Given the description of an element on the screen output the (x, y) to click on. 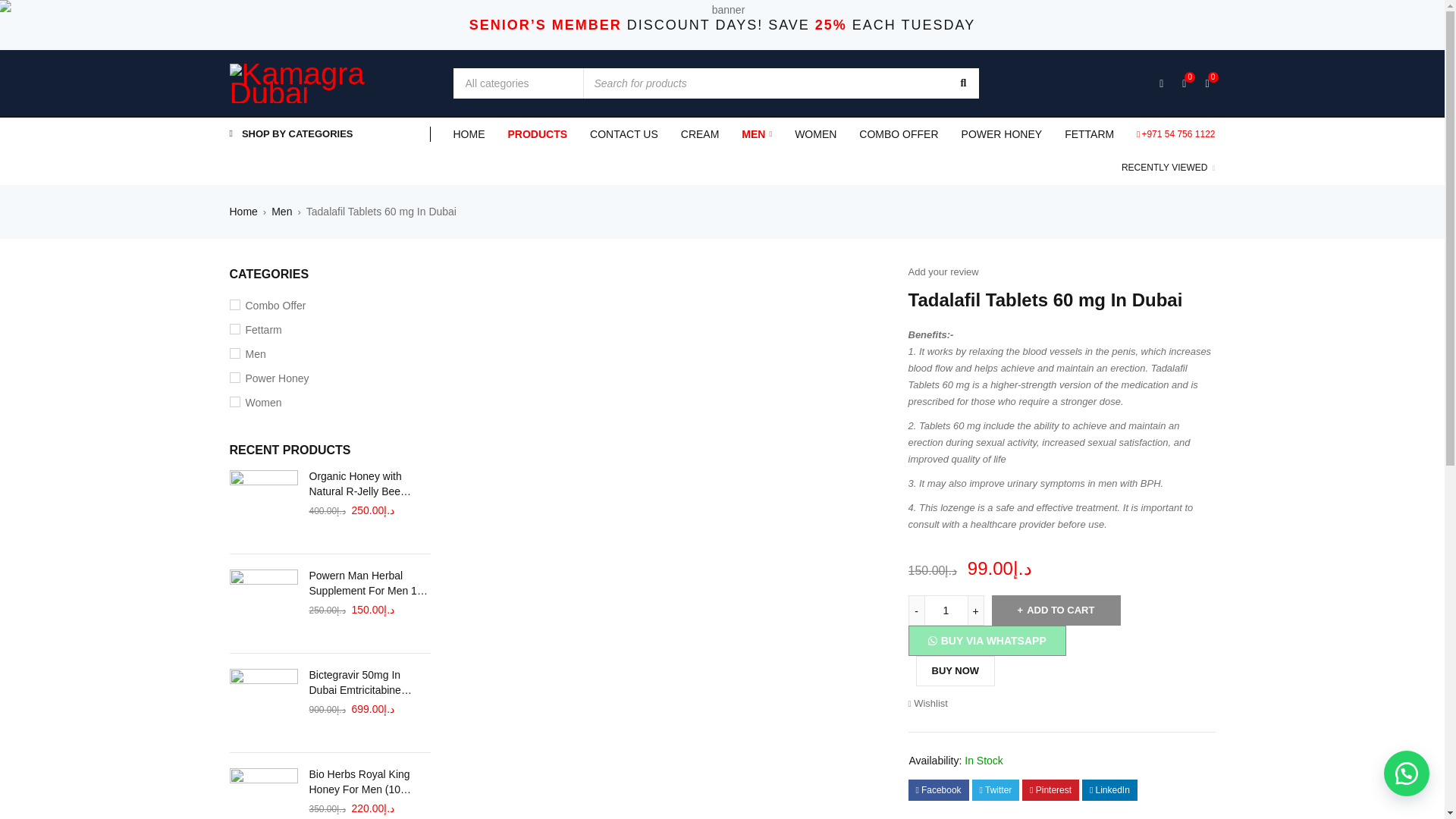
PRODUCTS (537, 133)
POWER HONEY (1001, 133)
Powern Man Herbal Supplement For Men 10 PCS In Dubai (262, 603)
Search (962, 82)
COMBO OFFER (898, 133)
Search (962, 82)
MEN (756, 133)
Search (962, 82)
Kamagra Dubai (328, 83)
Powern Man Herbal Supplement For Men 10 PCS In Dubai (369, 583)
FETTARM (1088, 133)
HOME (468, 133)
1 (945, 610)
CONTACT US (623, 133)
CREAM (700, 133)
